Given the description of an element on the screen output the (x, y) to click on. 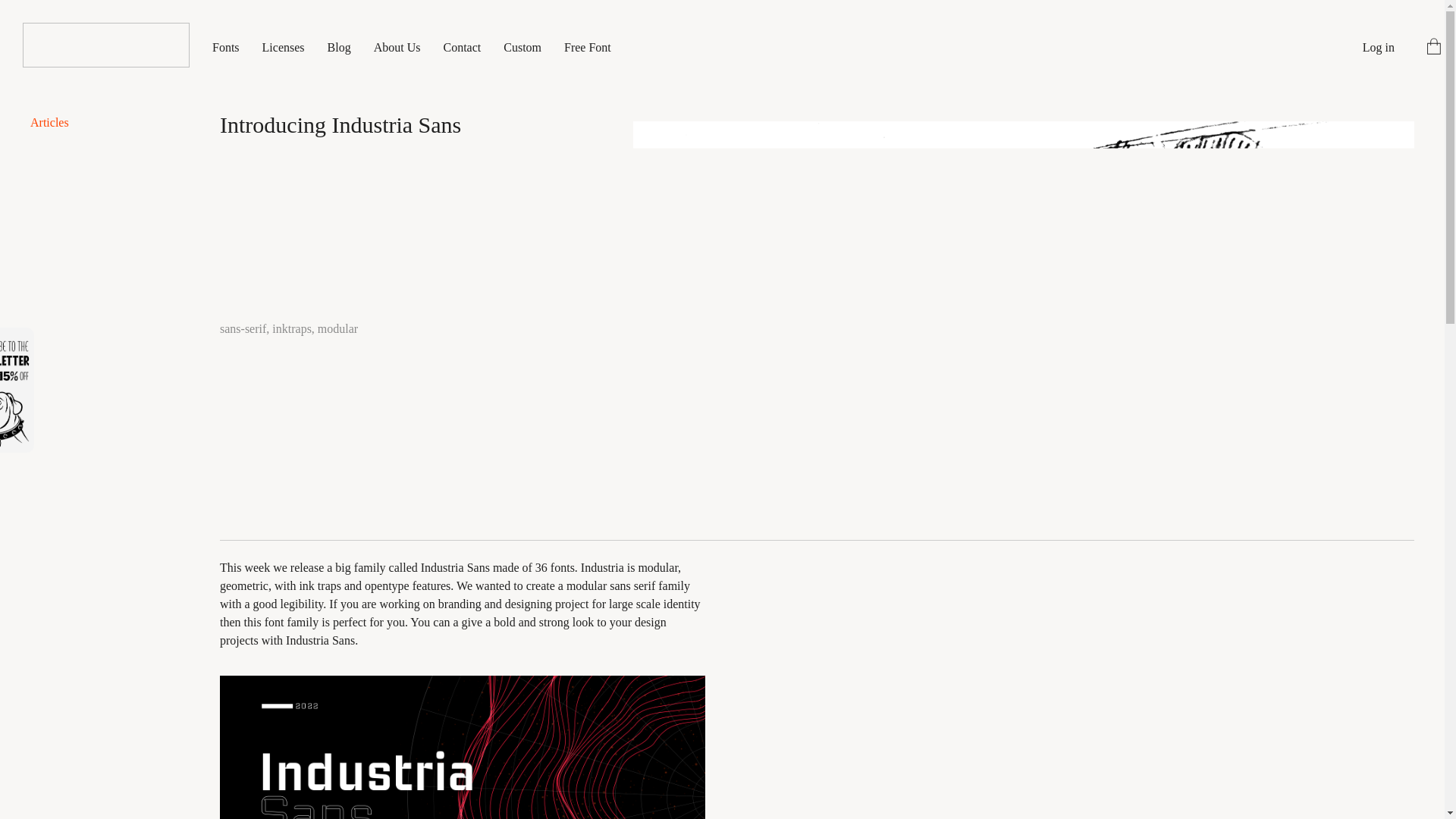
Fonts (226, 47)
Articles (49, 122)
Free Font (587, 47)
Blog (338, 47)
modular (337, 328)
Log in (1378, 47)
Contact (461, 47)
Licenses (283, 47)
Custom (522, 47)
About Us (397, 47)
